Given the description of an element on the screen output the (x, y) to click on. 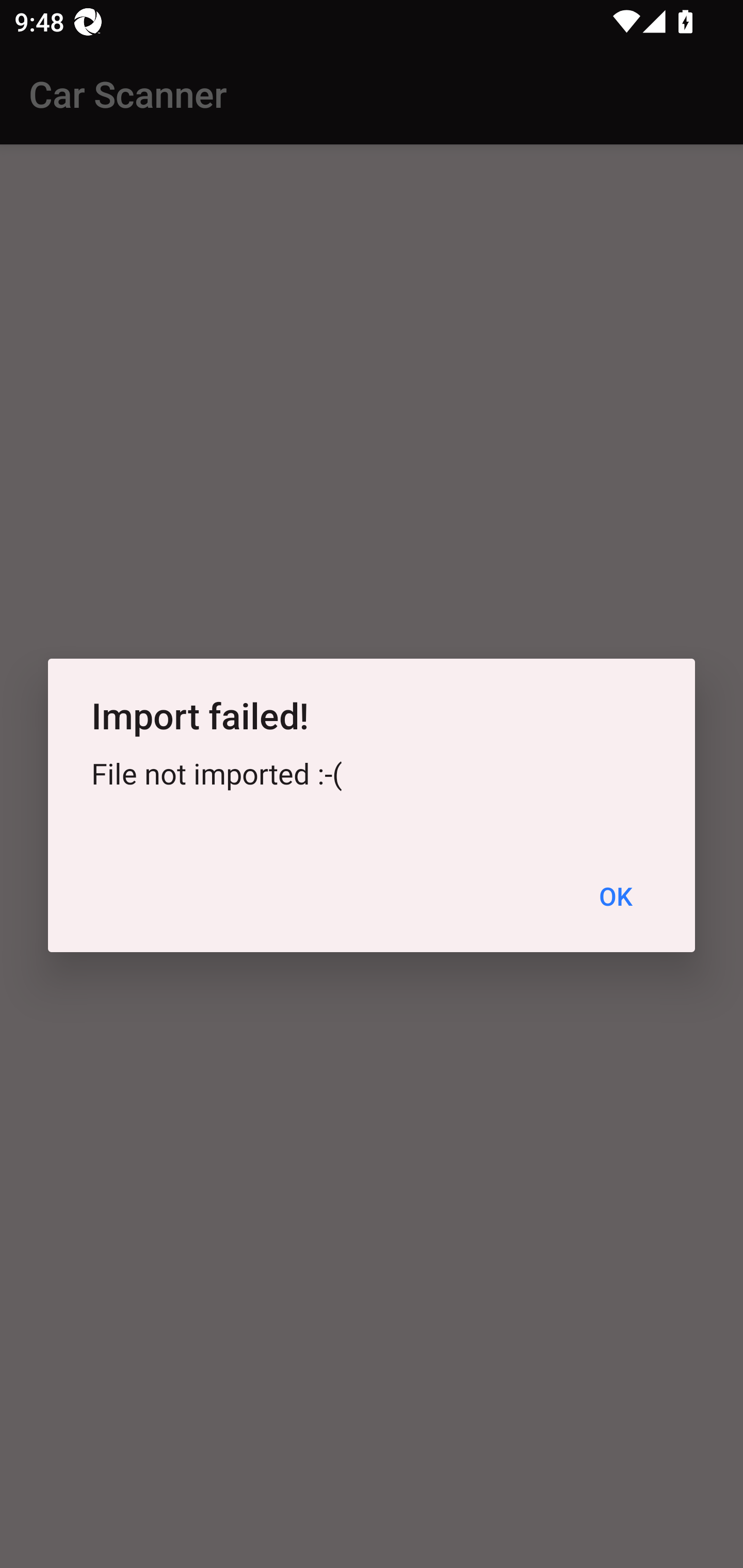
OK (615, 895)
